Given the description of an element on the screen output the (x, y) to click on. 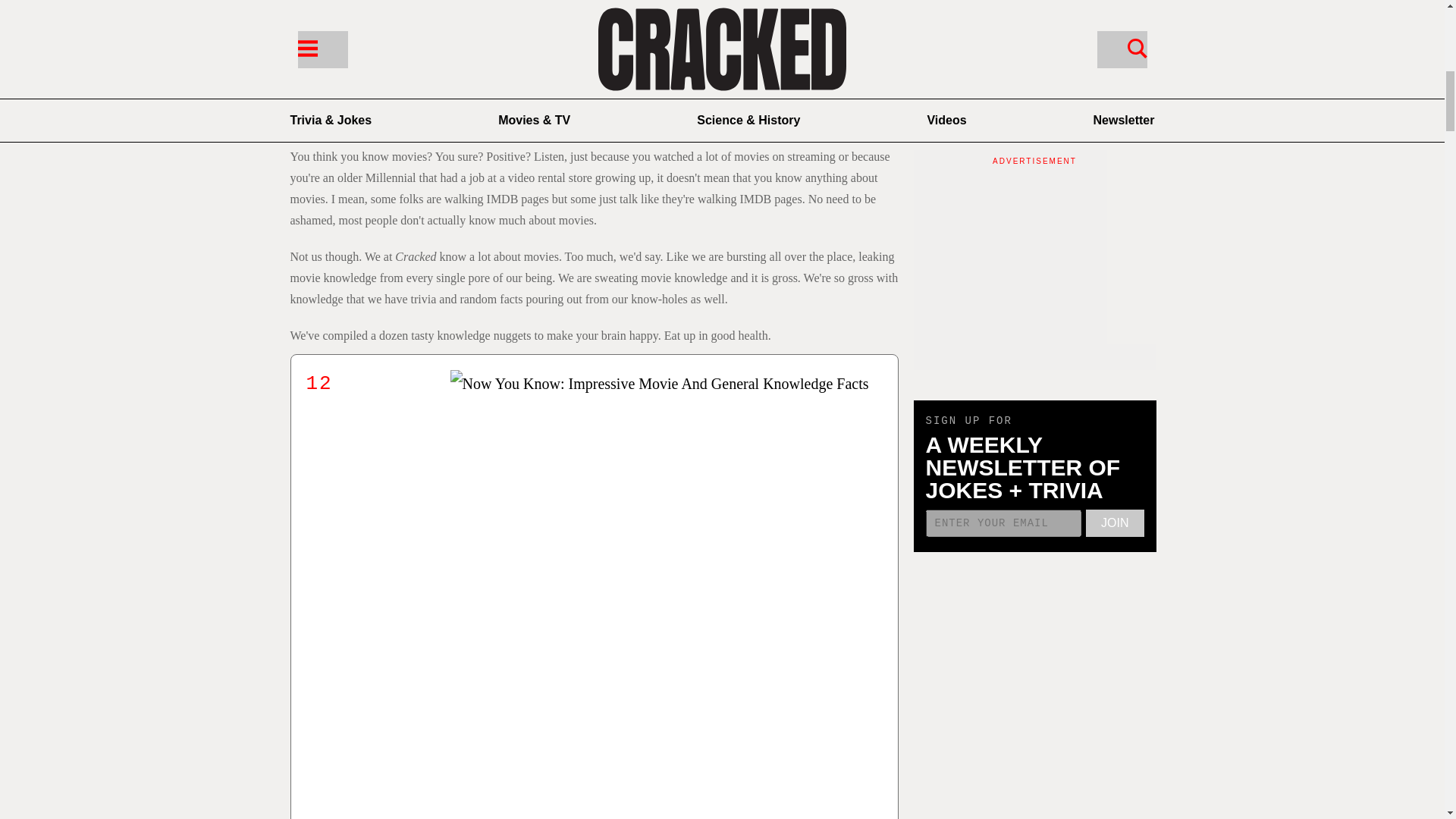
Chris Pauls (594, 91)
AM Smiley (388, 91)
